Given the description of an element on the screen output the (x, y) to click on. 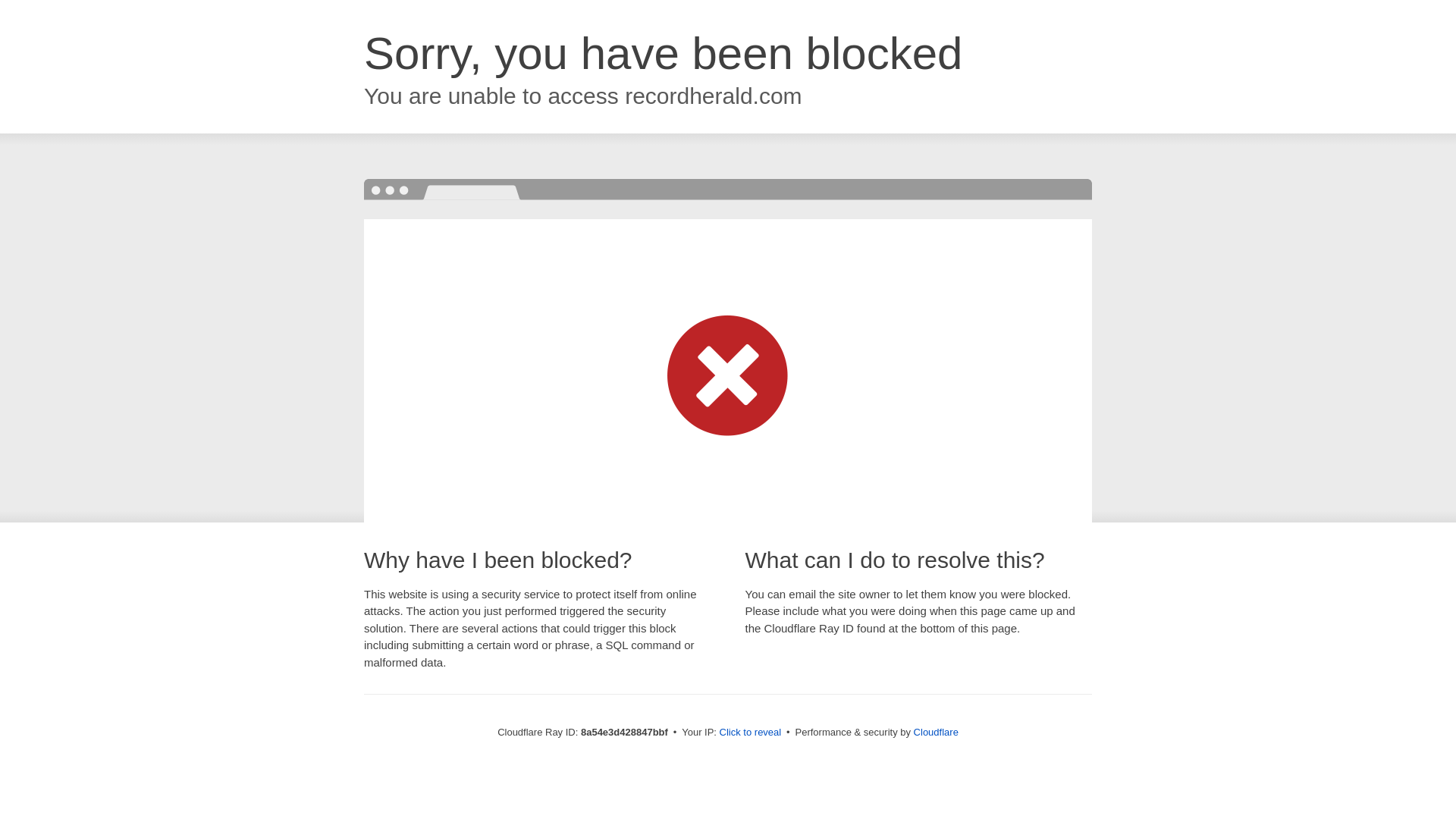
Cloudflare (936, 731)
Click to reveal (750, 732)
